Given the description of an element on the screen output the (x, y) to click on. 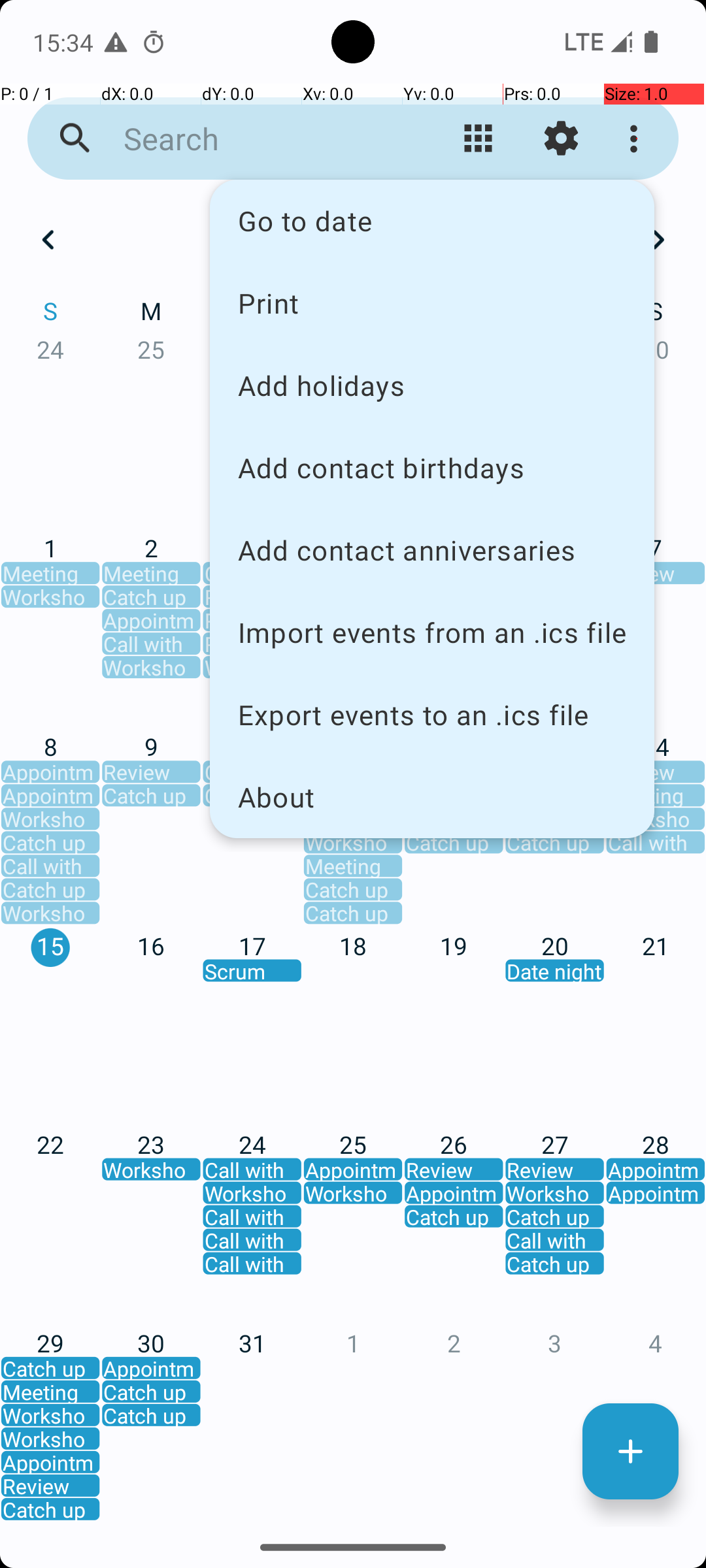
Go to date Element type: android.widget.TextView (431, 220)
Print Element type: android.widget.TextView (431, 302)
Add holidays Element type: android.widget.TextView (431, 384)
Add contact birthdays Element type: android.widget.TextView (431, 467)
Add contact anniversaries Element type: android.widget.TextView (431, 549)
Import events from an .ics file Element type: android.widget.TextView (431, 631)
Export events to an .ics file Element type: android.widget.TextView (431, 714)
